Given the description of an element on the screen output the (x, y) to click on. 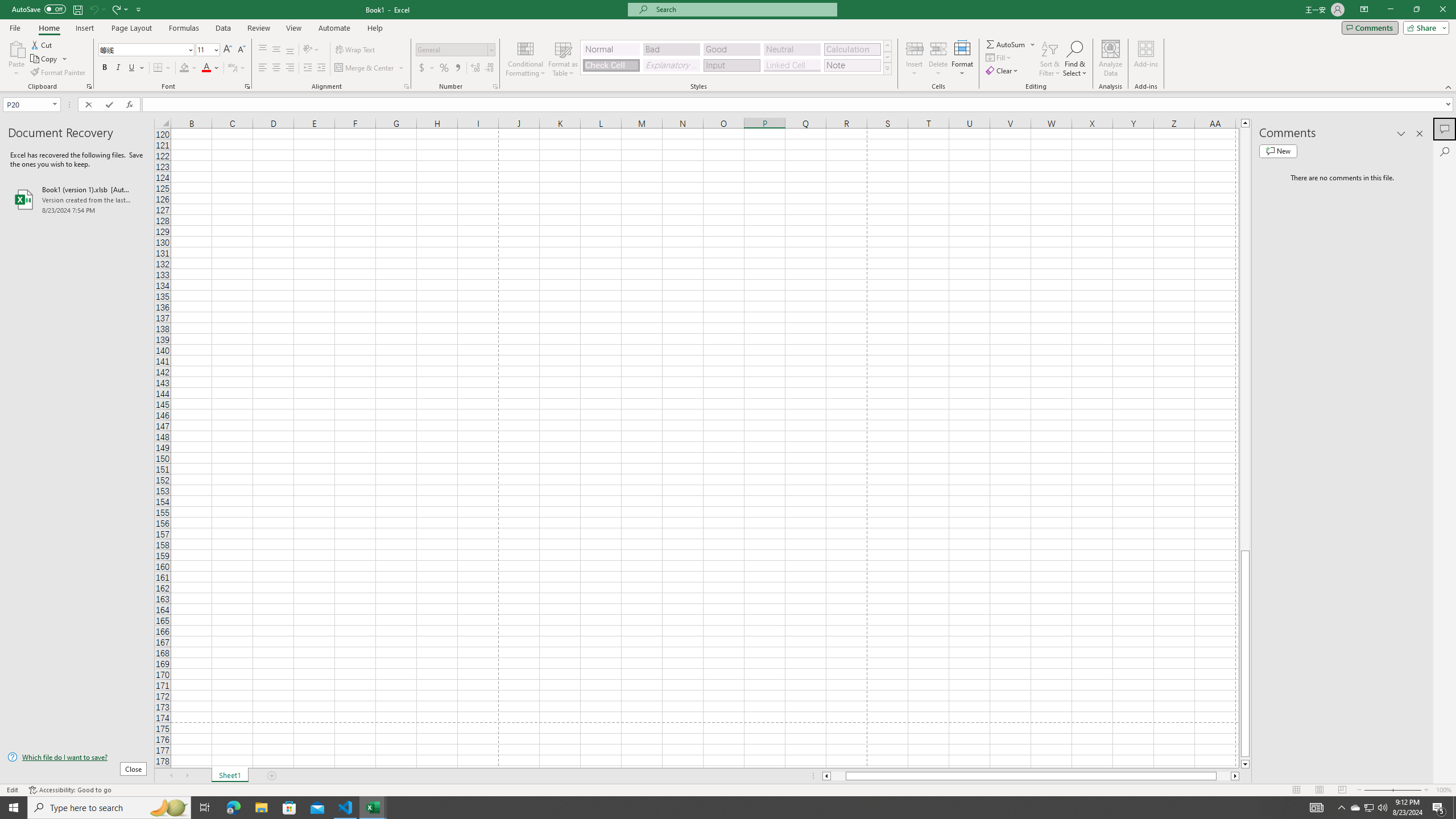
Linked Cell (791, 65)
Bold (104, 67)
Good (731, 49)
Increase Font Size (227, 49)
Font Size (204, 49)
Conditional Formatting (525, 58)
Merge & Center (365, 67)
Cell Styles (887, 68)
Middle Align (276, 49)
